Given the description of an element on the screen output the (x, y) to click on. 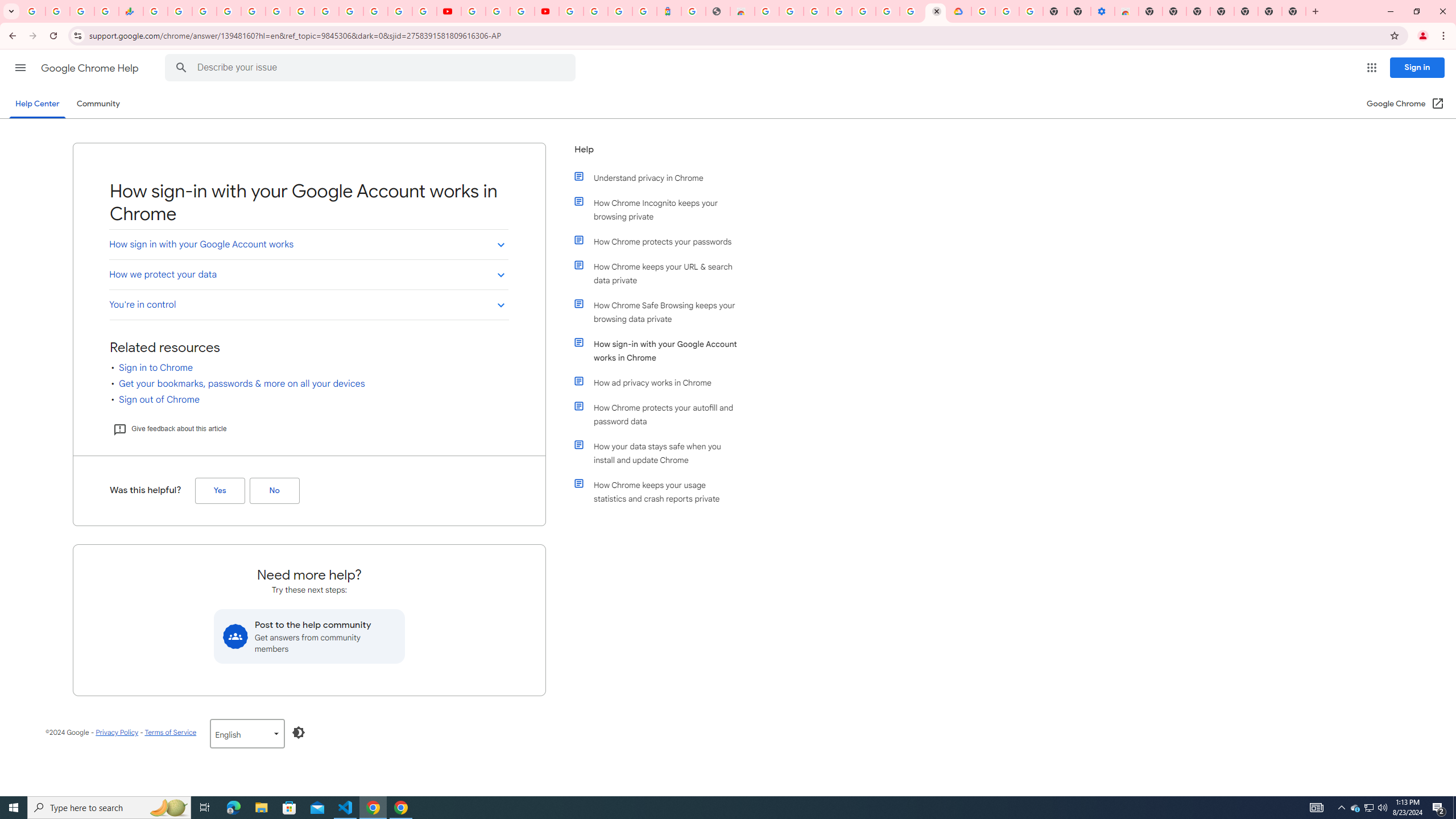
How Chrome protects your passwords (661, 241)
Privacy Policy (117, 732)
How Chrome protects your autofill and password data (661, 414)
Terms of Service (170, 732)
Main menu (20, 67)
Chrome Web Store - Household (742, 11)
Atour Hotel - Google hotels (668, 11)
Sign in - Google Accounts (595, 11)
